Given the description of an element on the screen output the (x, y) to click on. 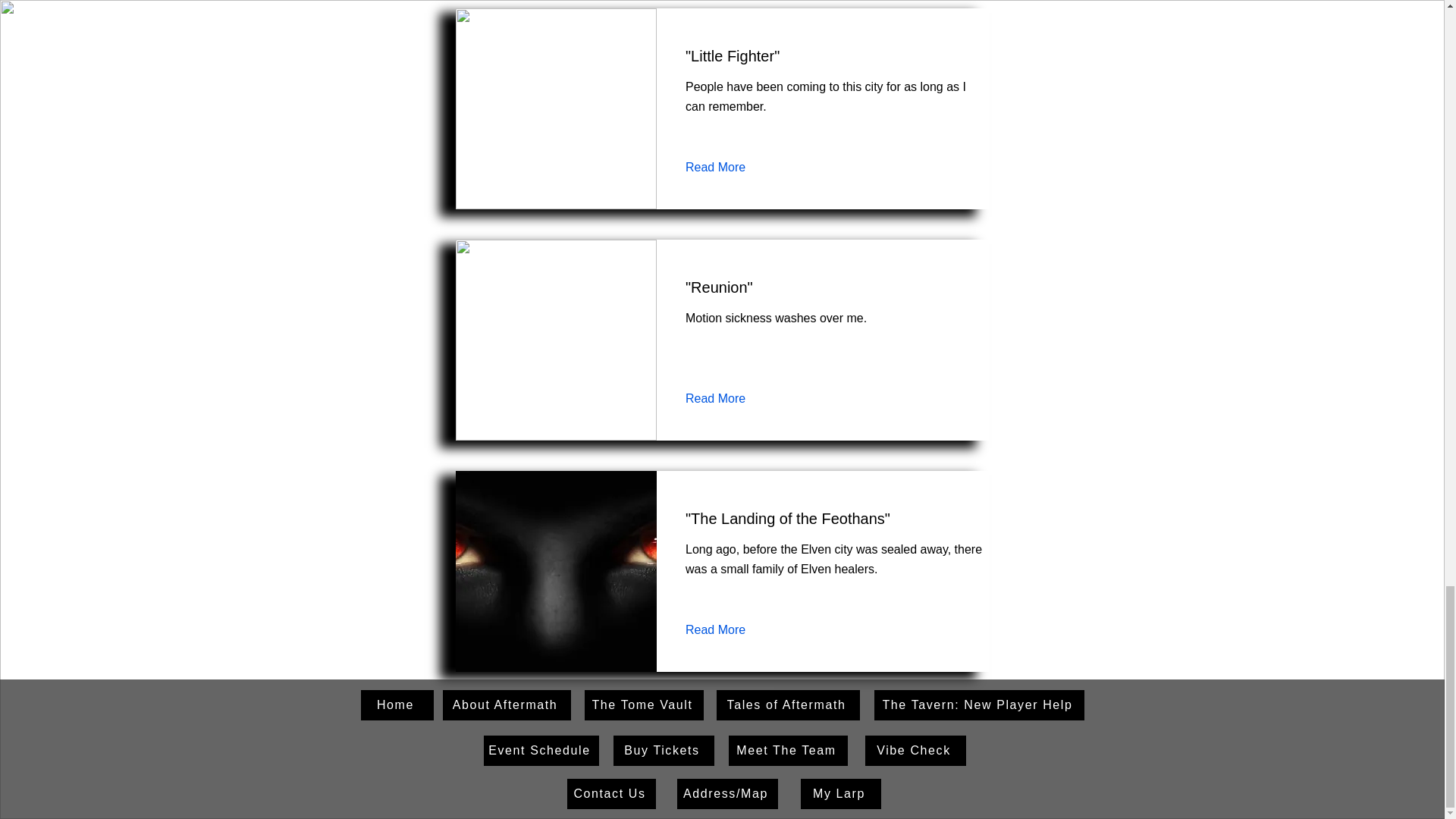
The Tavern: New Player Help (978, 705)
Read More (726, 630)
Meet The Team (787, 750)
About Aftermath (506, 705)
My Larp (840, 793)
VIGEEd.gif (555, 108)
Event Schedule (540, 750)
Tales of Aftermath (787, 705)
Read More (726, 398)
The Tome Vault (643, 705)
